Given the description of an element on the screen output the (x, y) to click on. 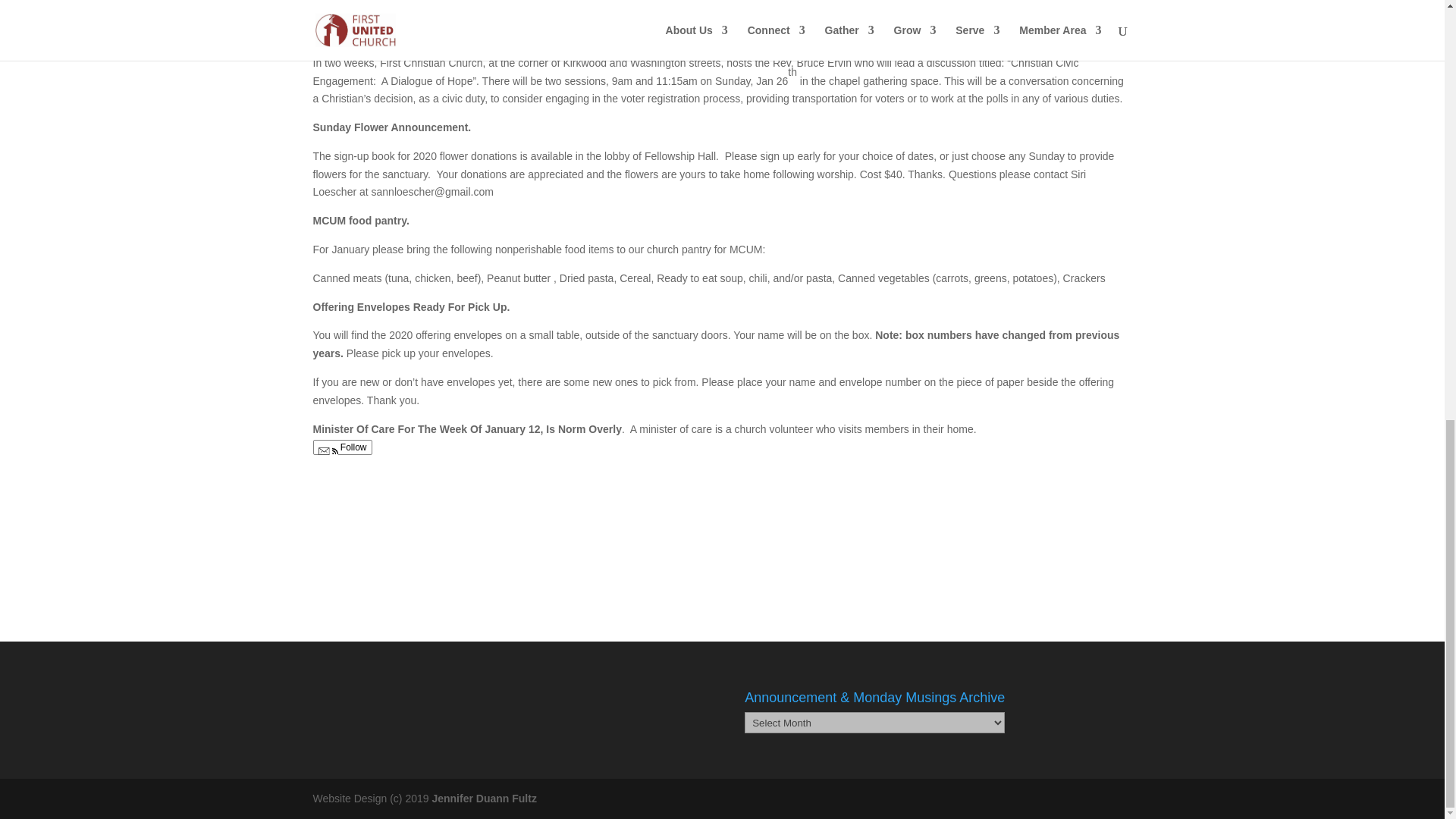
Email, RSS (327, 452)
